Given the description of an element on the screen output the (x, y) to click on. 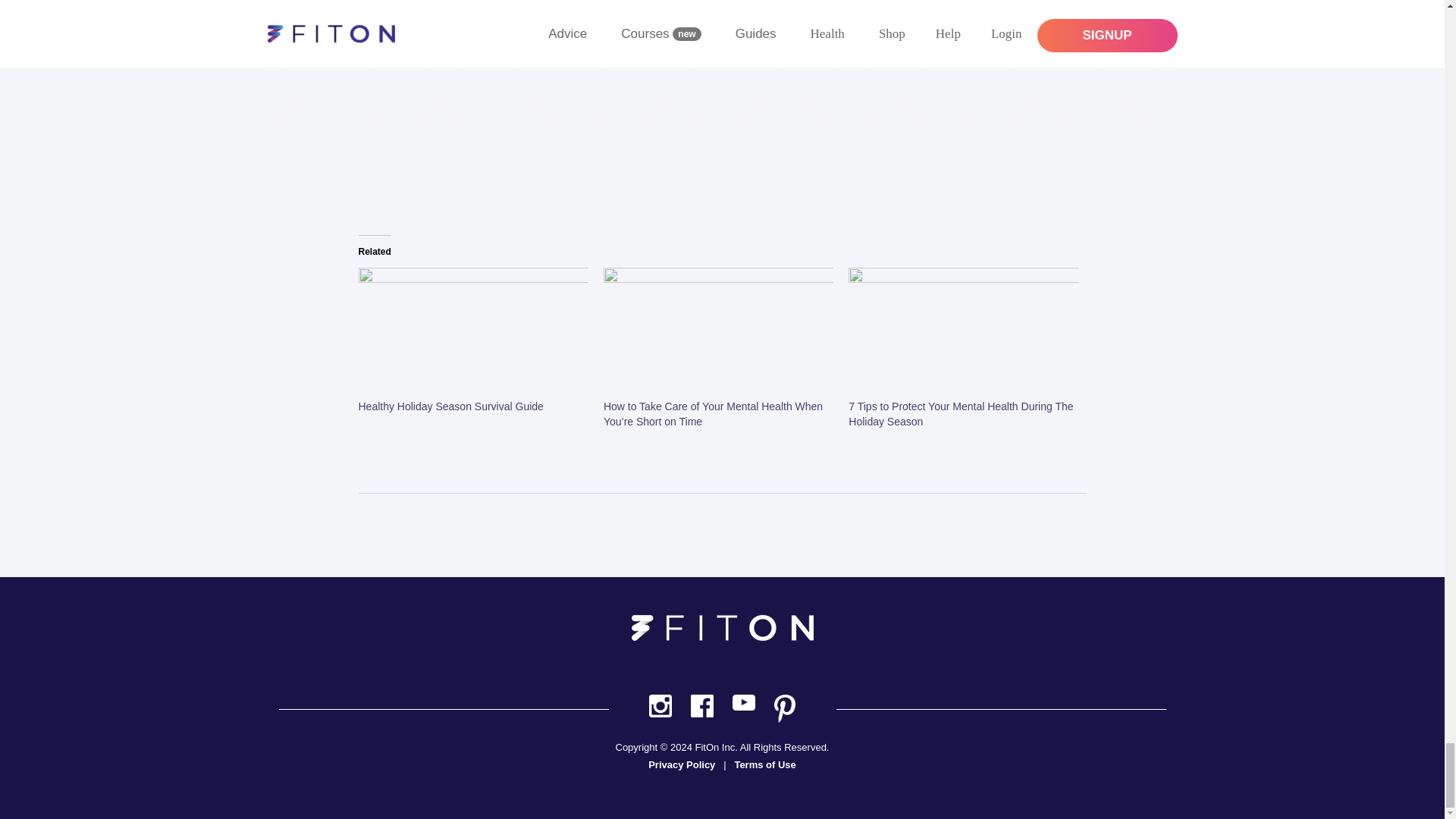
Healthy Holiday Season Survival Guide (450, 406)
Healthy Holiday Season Survival Guide (473, 332)
